Given the description of an element on the screen output the (x, y) to click on. 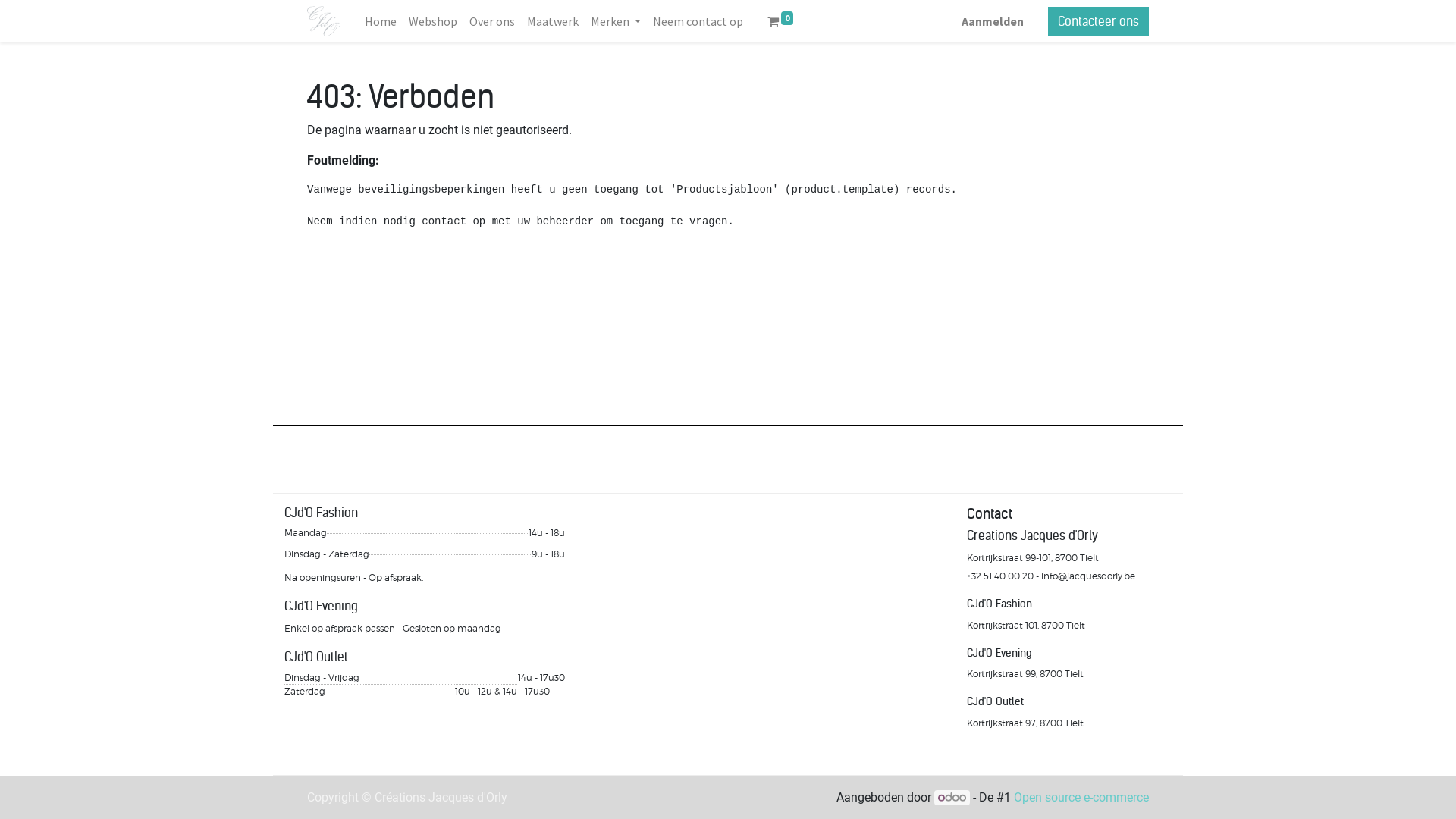
Merken Element type: text (615, 21)
Over ons Element type: text (491, 21)
Home Element type: text (380, 21)
Webshop Element type: text (432, 21)
Maatwerk Element type: text (552, 21)
0 Element type: text (780, 21)
Aanmelden Element type: text (992, 21)
Contacteer ons Element type: text (1098, 20)
My Website Element type: hover (323, 21)
Neem contact op Element type: text (697, 21)
Open source e-commerce Element type: text (1080, 797)
